Given the description of an element on the screen output the (x, y) to click on. 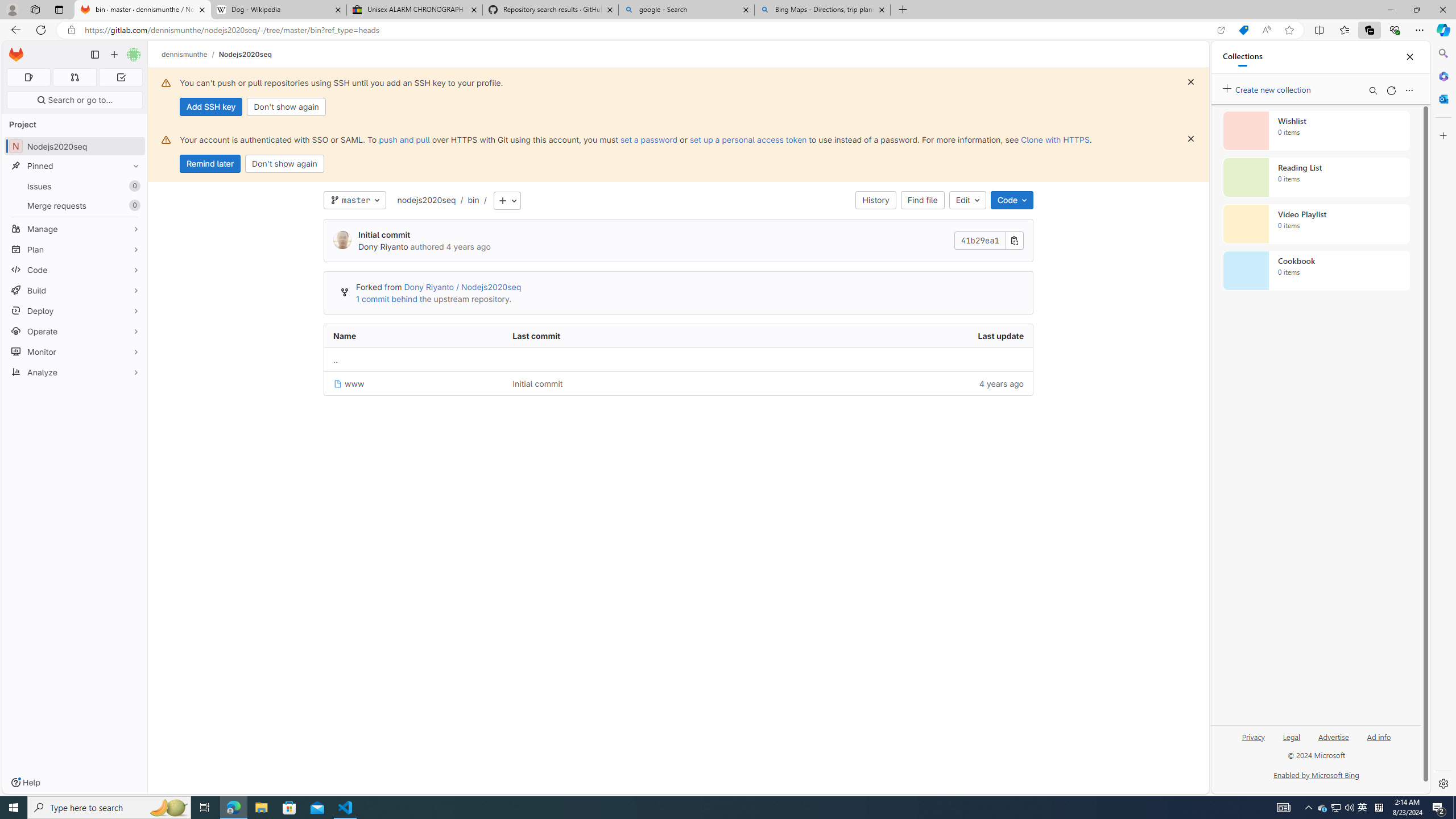
dennismunthe/ (189, 53)
Monitor (74, 351)
Dony Riyanto / Nodejs2020seq (462, 286)
nodejs2020seq (426, 199)
bin (473, 199)
Create new... (113, 54)
Class: tree-item (678, 383)
set up a personal access token (747, 139)
Class: s16 gl-icon gl-button-icon  (1190, 138)
